Given the description of an element on the screen output the (x, y) to click on. 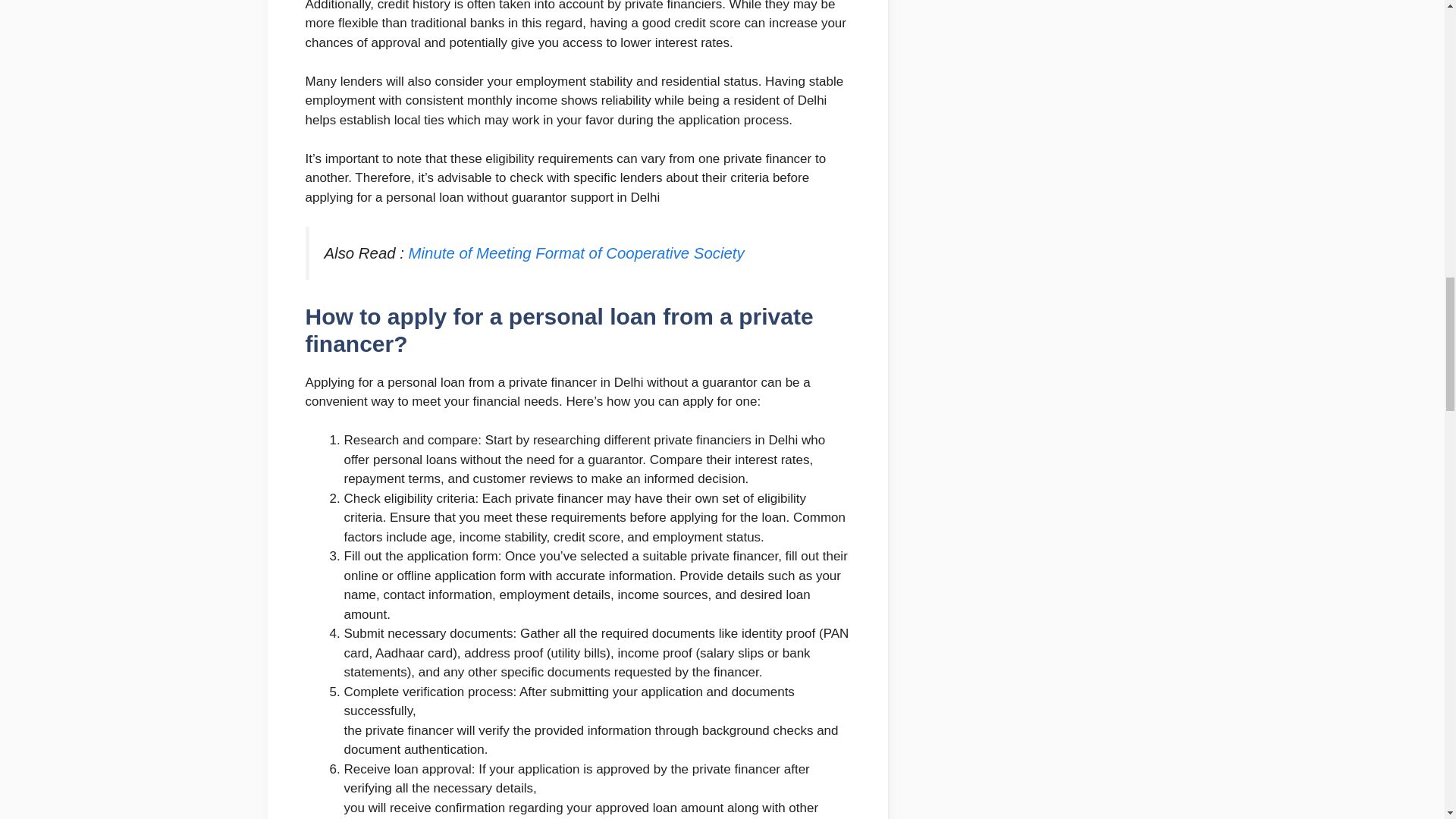
Minute of Meeting Format of Cooperative Society (576, 252)
